Given the description of an element on the screen output the (x, y) to click on. 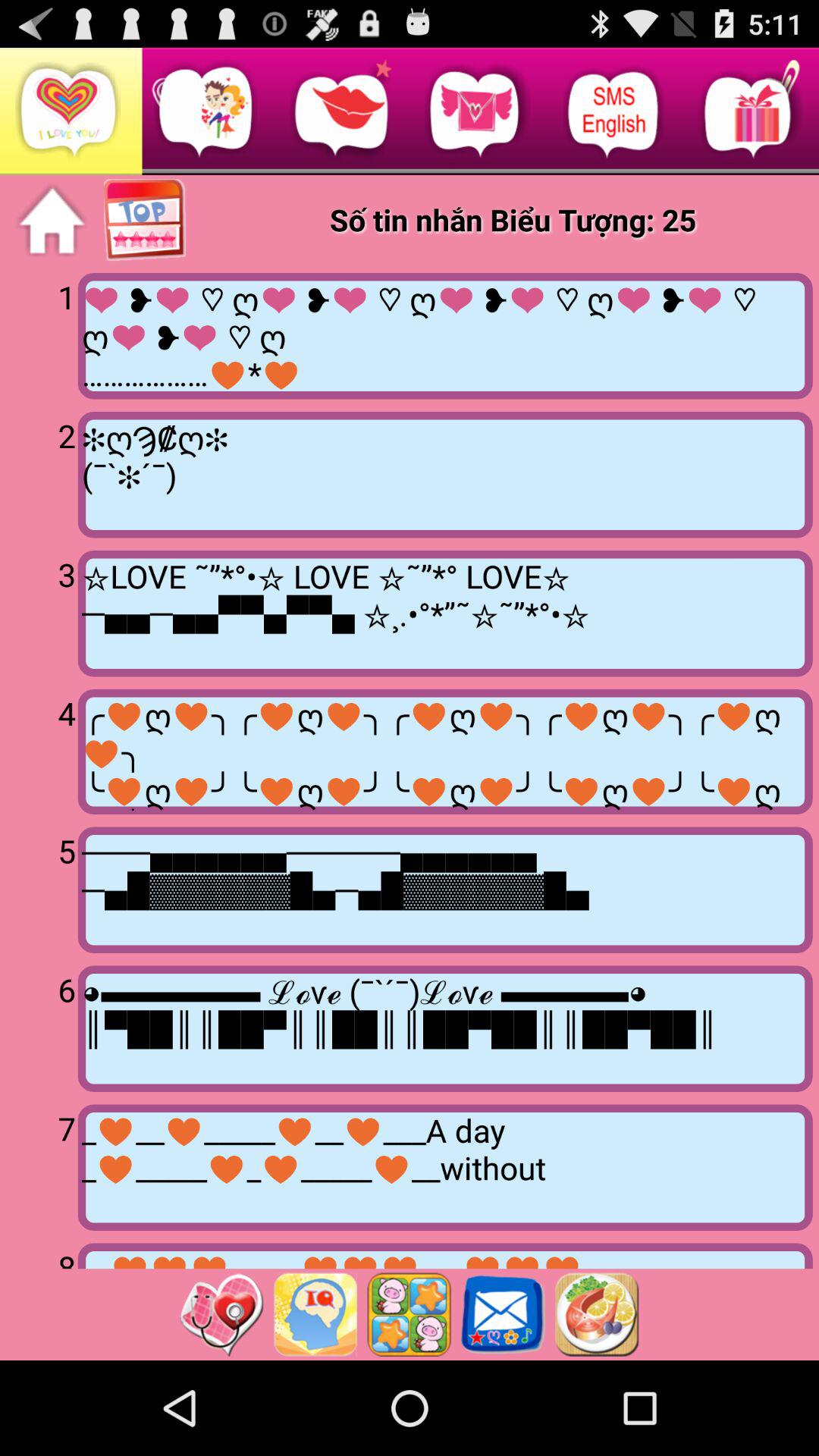
go to page top (145, 220)
